Given the description of an element on the screen output the (x, y) to click on. 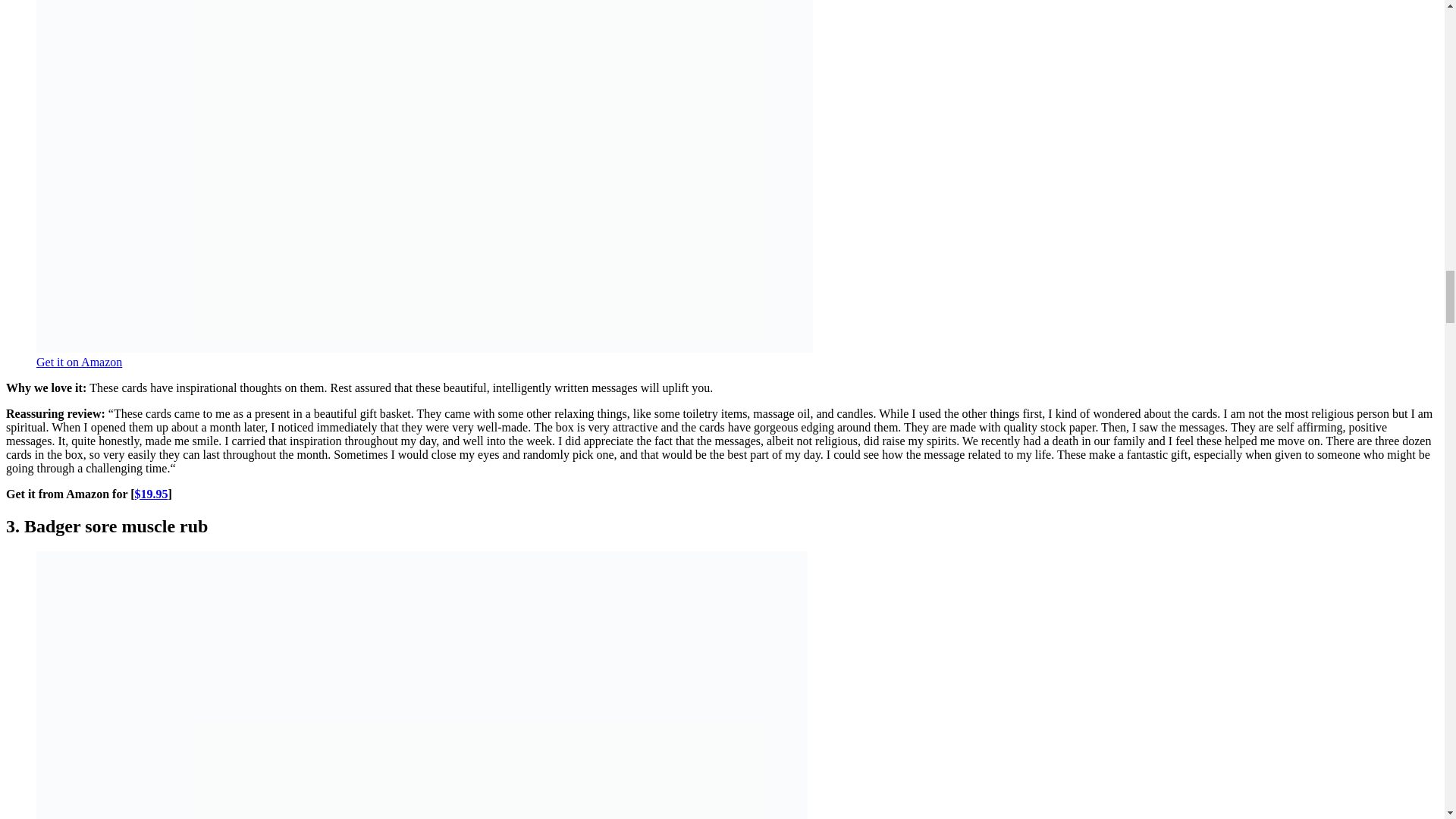
Get it on Amazon (79, 361)
